Given the description of an element on the screen output the (x, y) to click on. 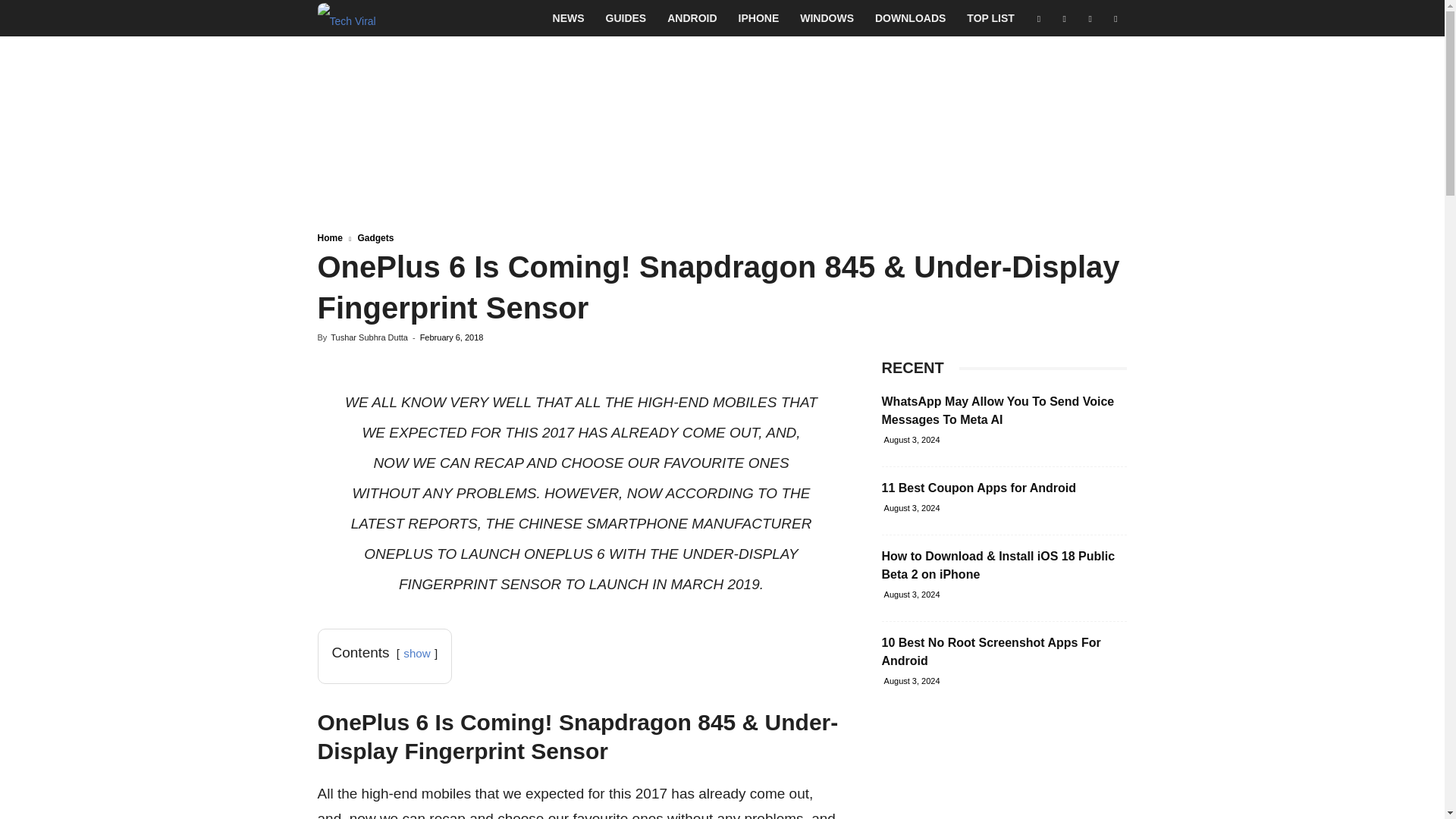
NEWS (568, 18)
Instagram (1063, 18)
ANDROID (691, 18)
DOWNLOADS (910, 18)
TechViral (346, 18)
IPHONE (759, 18)
Tech Viral (346, 18)
Twitter (1114, 18)
show (416, 653)
GUIDES (626, 18)
Home (329, 237)
Facebook (1038, 18)
Pinterest (1090, 18)
Tushar Subhra Dutta (368, 337)
WINDOWS (826, 18)
